Given the description of an element on the screen output the (x, y) to click on. 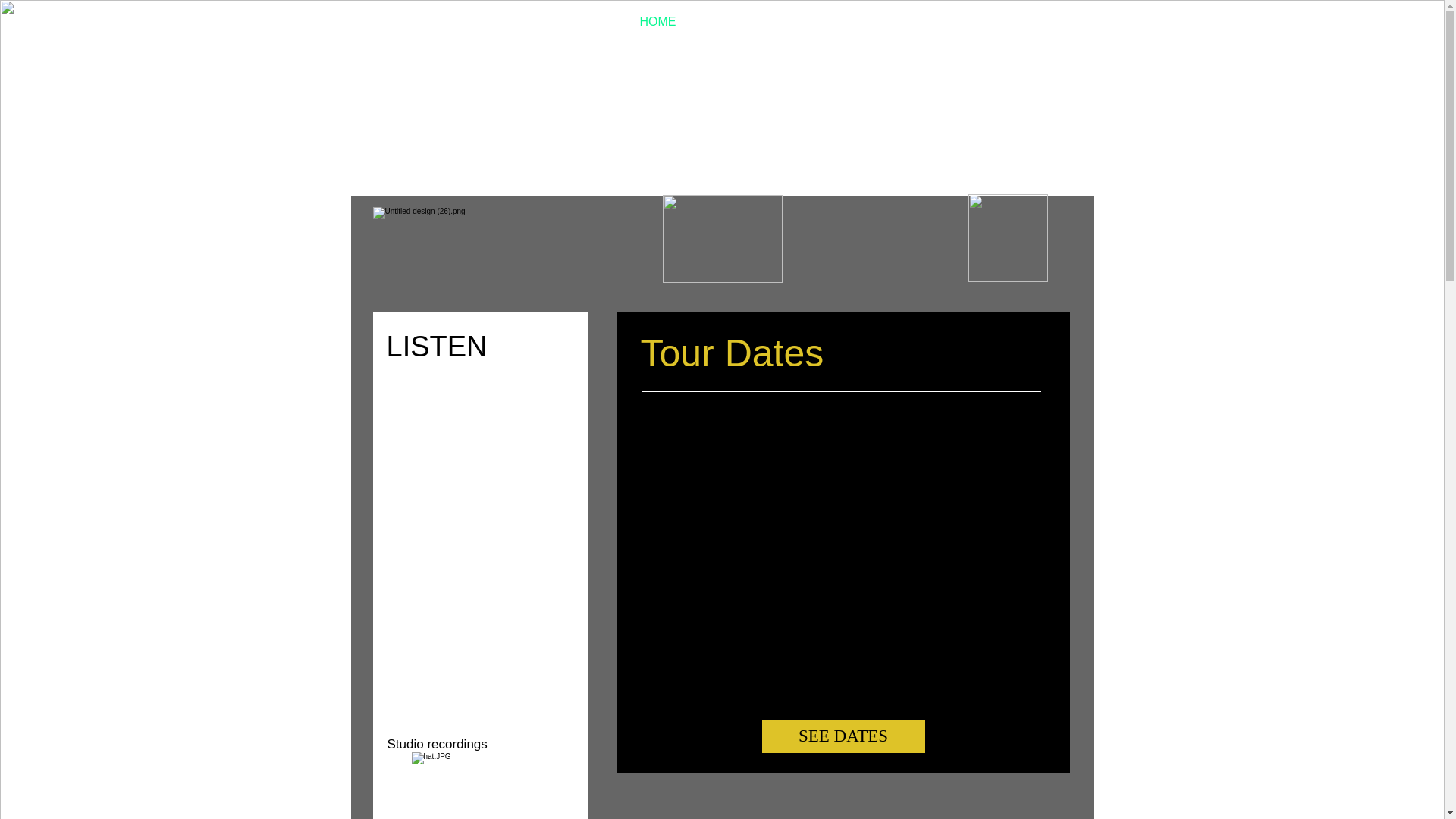
TOUR (899, 21)
NEWS (837, 21)
MADCHESTER (985, 21)
The Official Website (463, 18)
Copy of Copy of R-KID.PNG (722, 238)
HOME (662, 21)
BIO (717, 21)
MEDIA (773, 21)
SEE DATES (842, 735)
